Given the description of an element on the screen output the (x, y) to click on. 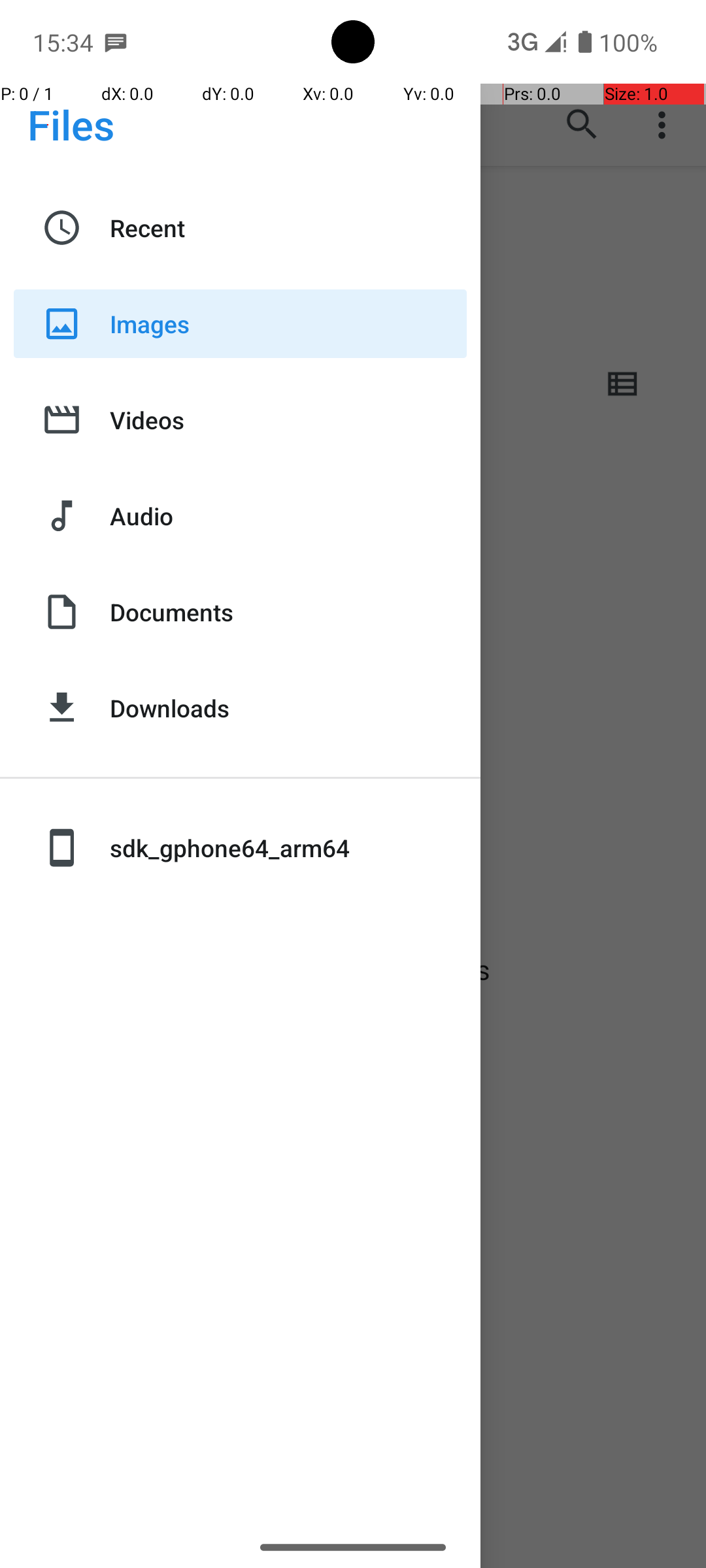
Files Element type: android.widget.TextView (70, 124)
Downloads Element type: android.widget.TextView (287, 707)
sdk_gphone64_arm64 Element type: android.widget.TextView (287, 847)
SMS Messenger notification: +12845986552 Element type: android.widget.ImageView (115, 41)
